Given the description of an element on the screen output the (x, y) to click on. 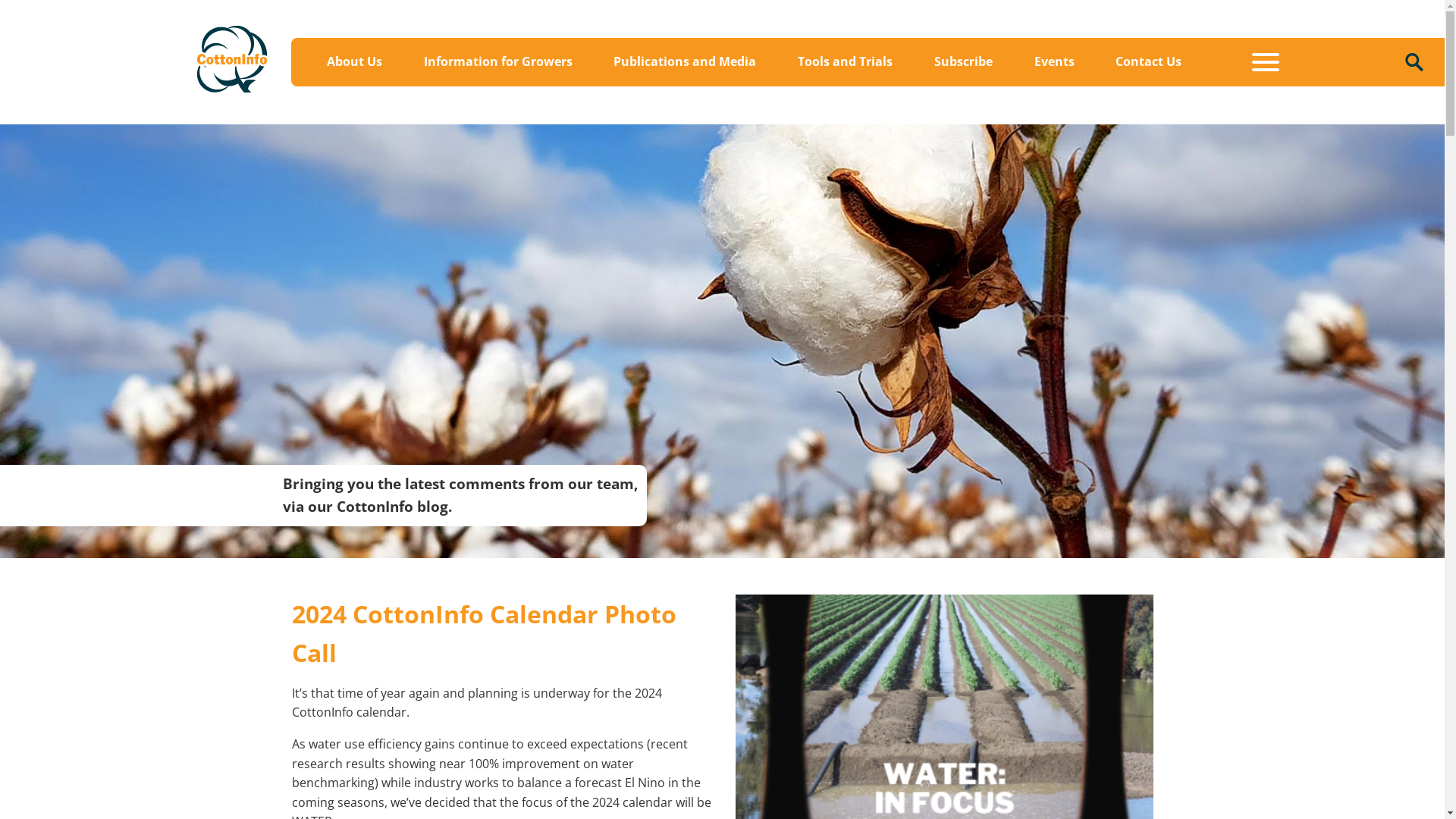
Skip to main content Element type: text (0, 0)
Events Element type: text (1054, 62)
Tools and Trials Element type: text (844, 62)
Subscribe Element type: text (963, 62)
Contact Us Element type: text (1148, 62)
About Us Element type: text (354, 62)
Enter search terms Element type: hover (1414, 61)
Information for Growers Element type: text (497, 62)
2024 CottonInfo Calendar Photo Call Element type: text (483, 632)
Publications and Media Element type: text (684, 62)
